Given the description of an element on the screen output the (x, y) to click on. 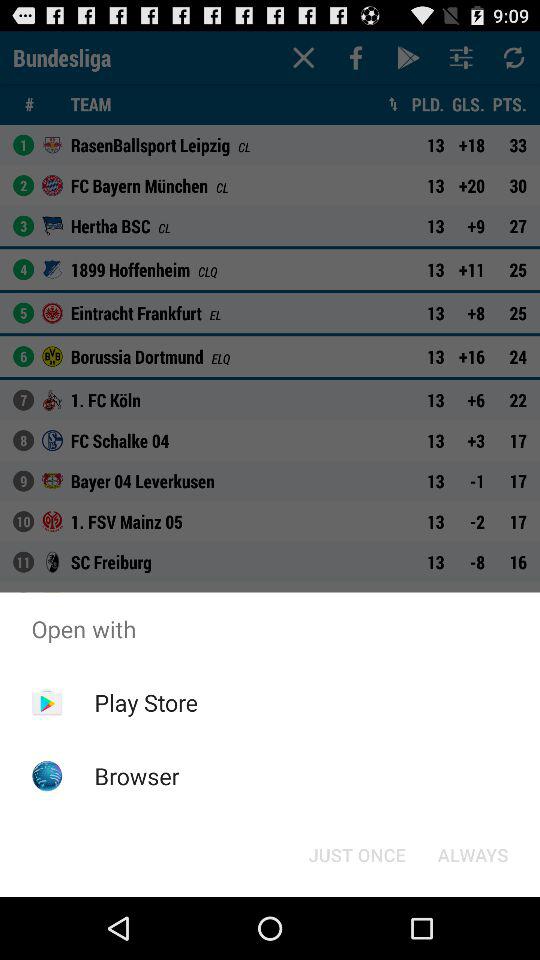
swipe until the play store item (146, 702)
